Given the description of an element on the screen output the (x, y) to click on. 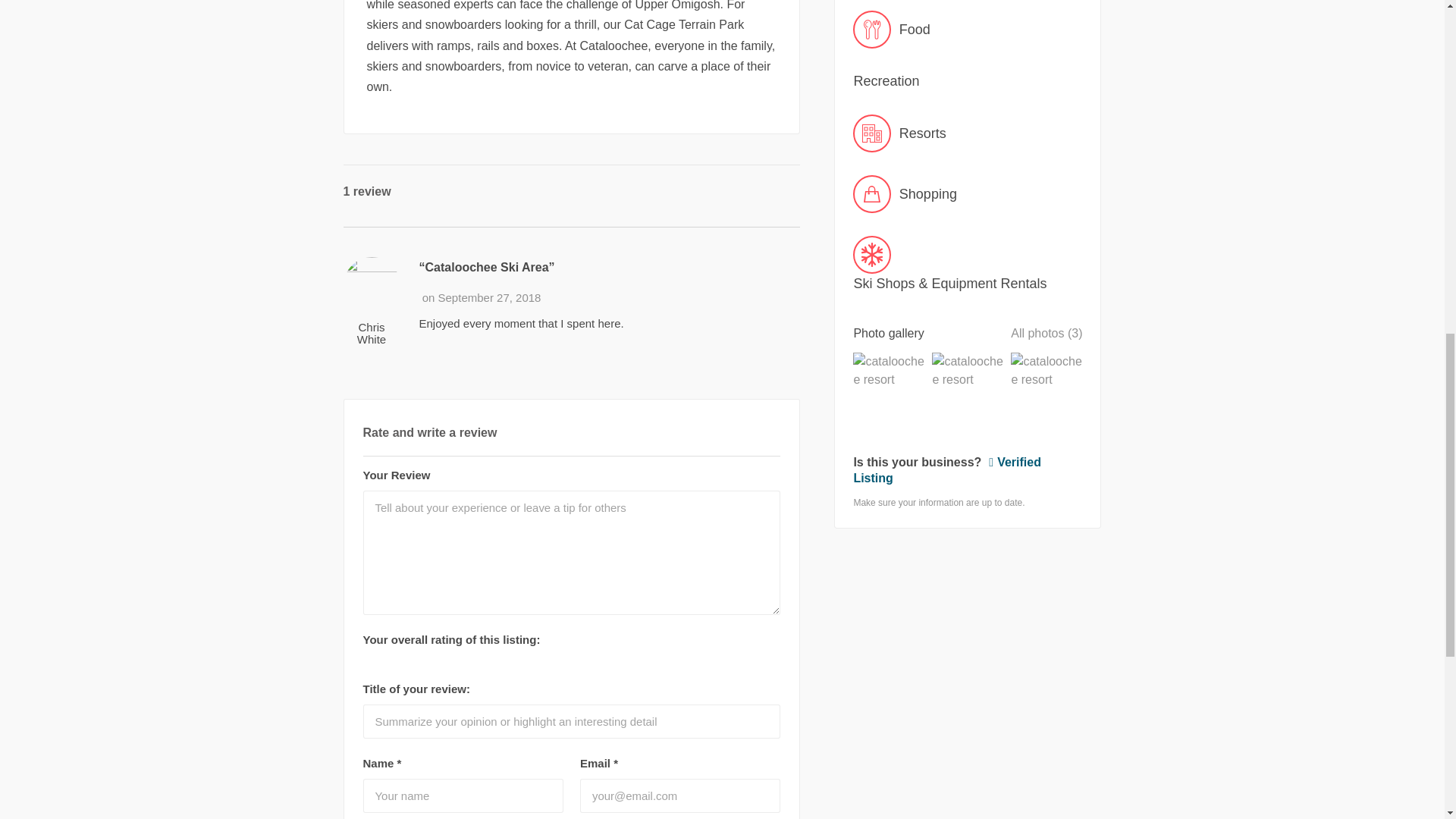
Food (967, 29)
Recreation (967, 81)
Resorts (967, 133)
on September 27, 2018 (481, 297)
Shopping (967, 193)
